Given the description of an element on the screen output the (x, y) to click on. 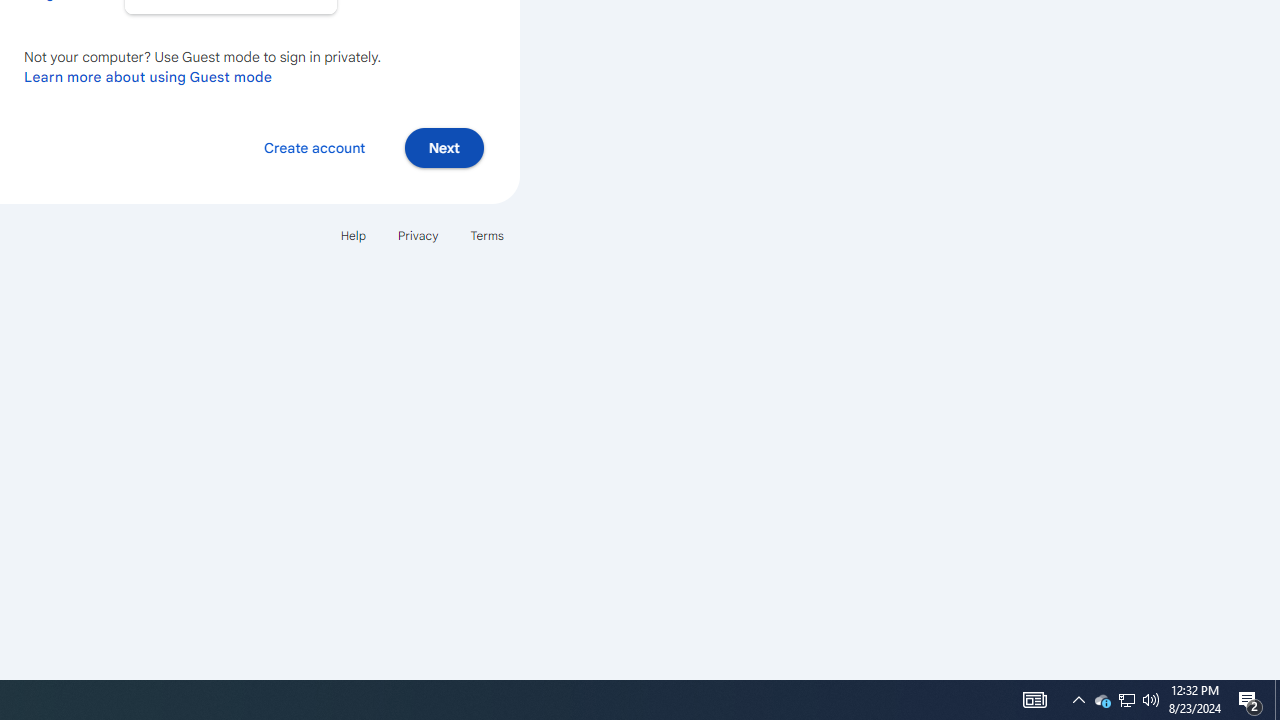
Learn more about using Guest mode (148, 76)
Create account (314, 146)
